Given the description of an element on the screen output the (x, y) to click on. 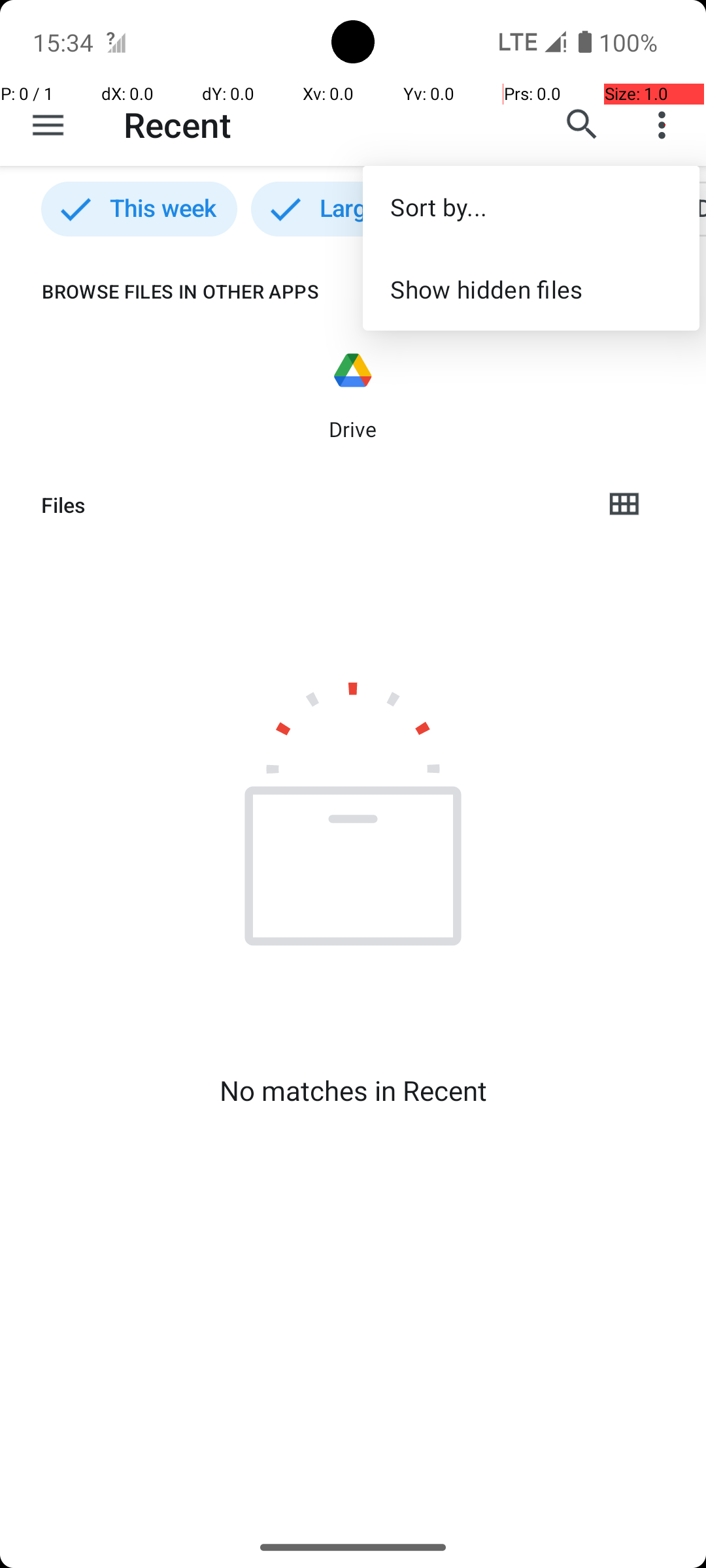
Show hidden files Element type: android.widget.TextView (531, 288)
